Given the description of an element on the screen output the (x, y) to click on. 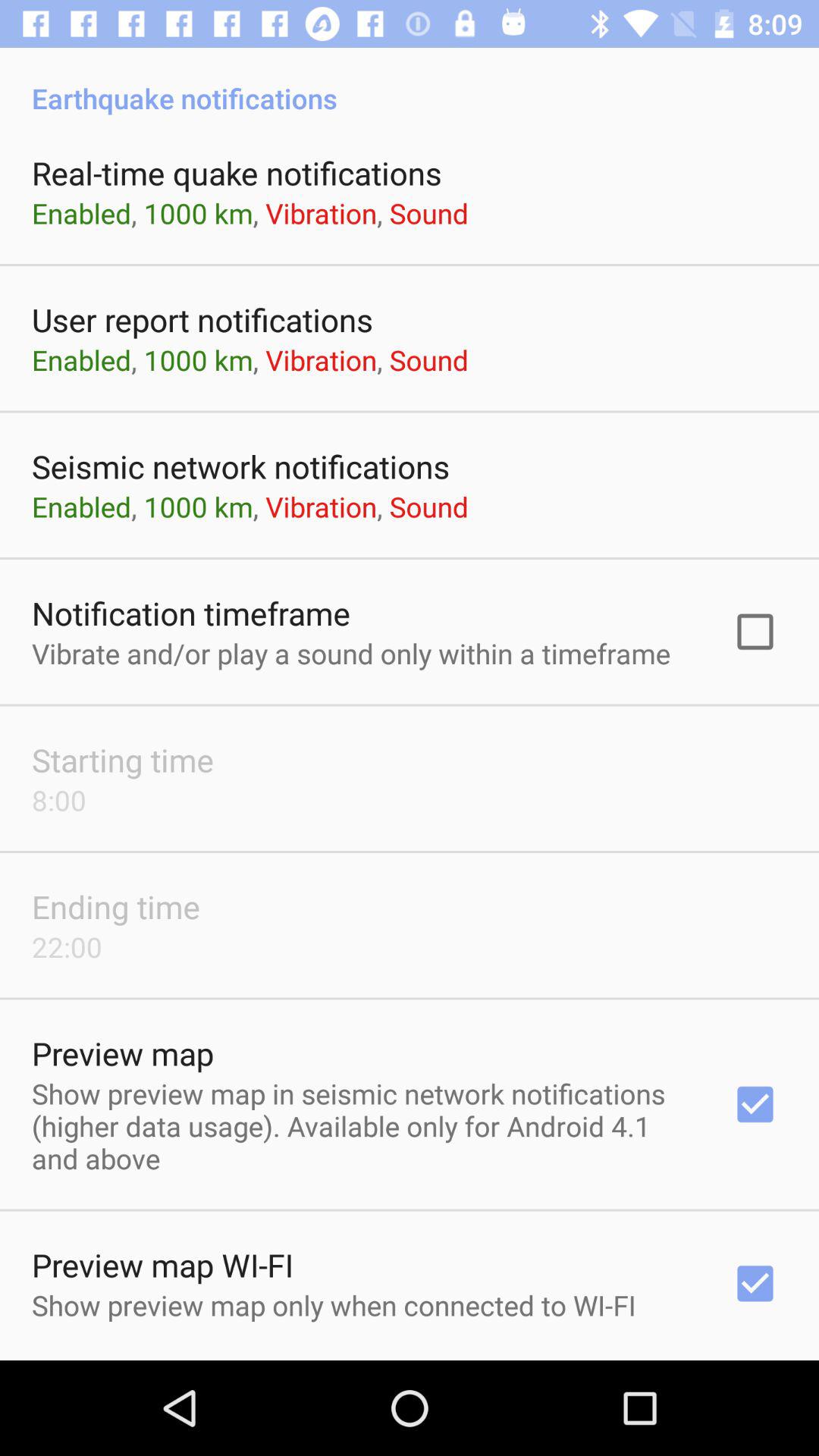
press app below vibrate and or (122, 759)
